Given the description of an element on the screen output the (x, y) to click on. 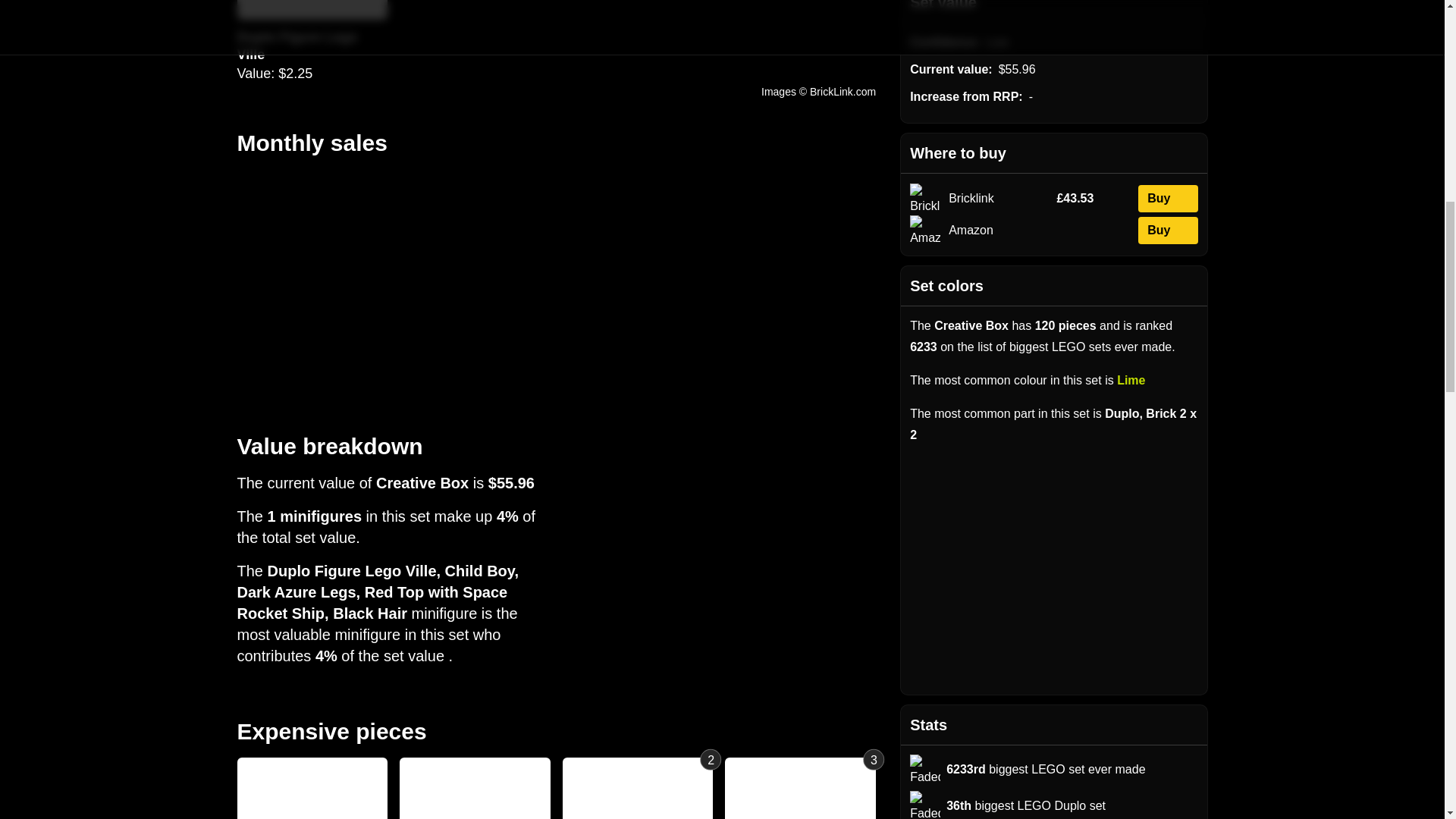
Buy (1167, 230)
Buy (1167, 198)
